Given the description of an element on the screen output the (x, y) to click on. 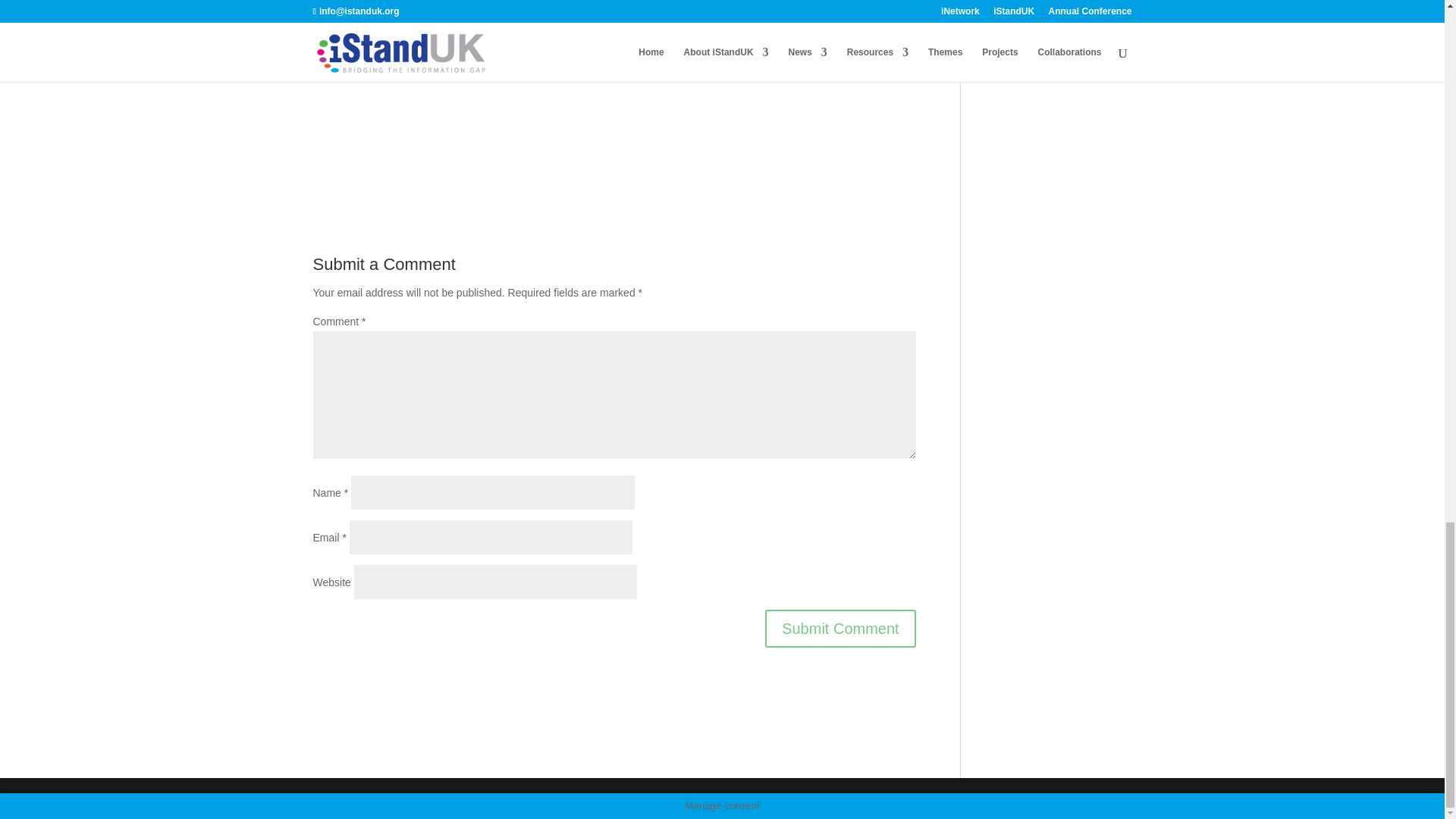
SAVVI team (614, 80)
Submit Comment (840, 628)
